Given the description of an element on the screen output the (x, y) to click on. 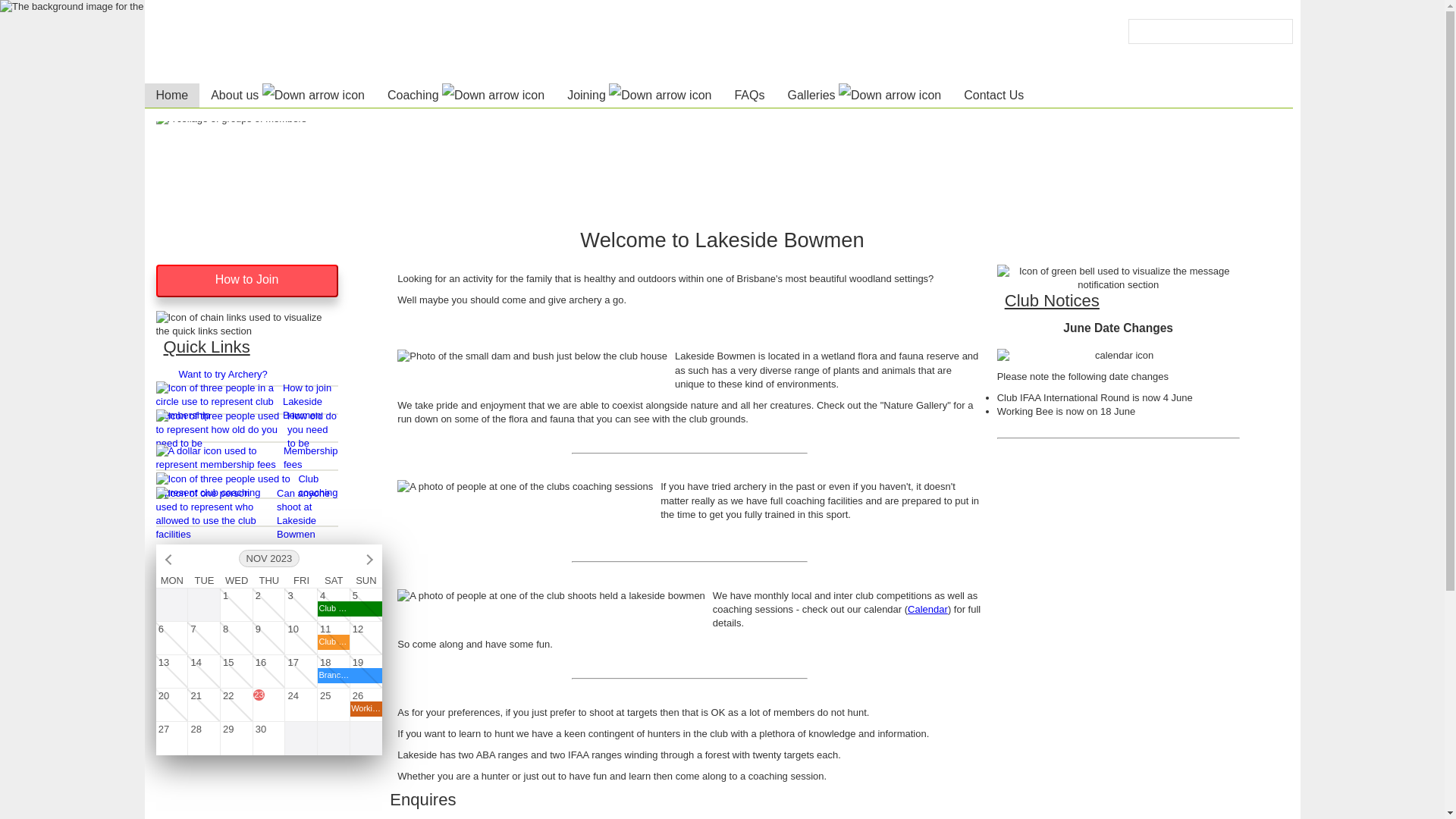
image carousel container Element type: hover (722, 168)
Contact Us Element type: text (993, 95)
About us Element type: text (287, 95)
How to join Lakeside Bowmen Element type: text (247, 401)
Coaching Element type: text (465, 95)
Branch Club Challenge Element type: hover (366, 675)
Can anyone shoot at Lakeside Bowmen Element type: text (247, 513)
FAQs Element type: text (748, 95)
Search container Element type: hover (1210, 30)
Banner logo for Lakeside Bowmen Element type: hover (373, 43)
Calendar Element type: text (927, 609)
Membership fees Element type: text (247, 457)
Club coaching Element type: text (247, 485)
Want to try Archery? Element type: text (222, 373)
NOV 2023 Element type: text (268, 558)
Page background photo Element type: hover (722, 364)
Galleries Element type: text (863, 95)
Joining Element type: text (638, 95)
How old do you need to be Element type: text (247, 429)
How to Join Element type: text (246, 280)
Home Element type: text (171, 95)
Club Championships Element type: hover (366, 608)
